Given the description of an element on the screen output the (x, y) to click on. 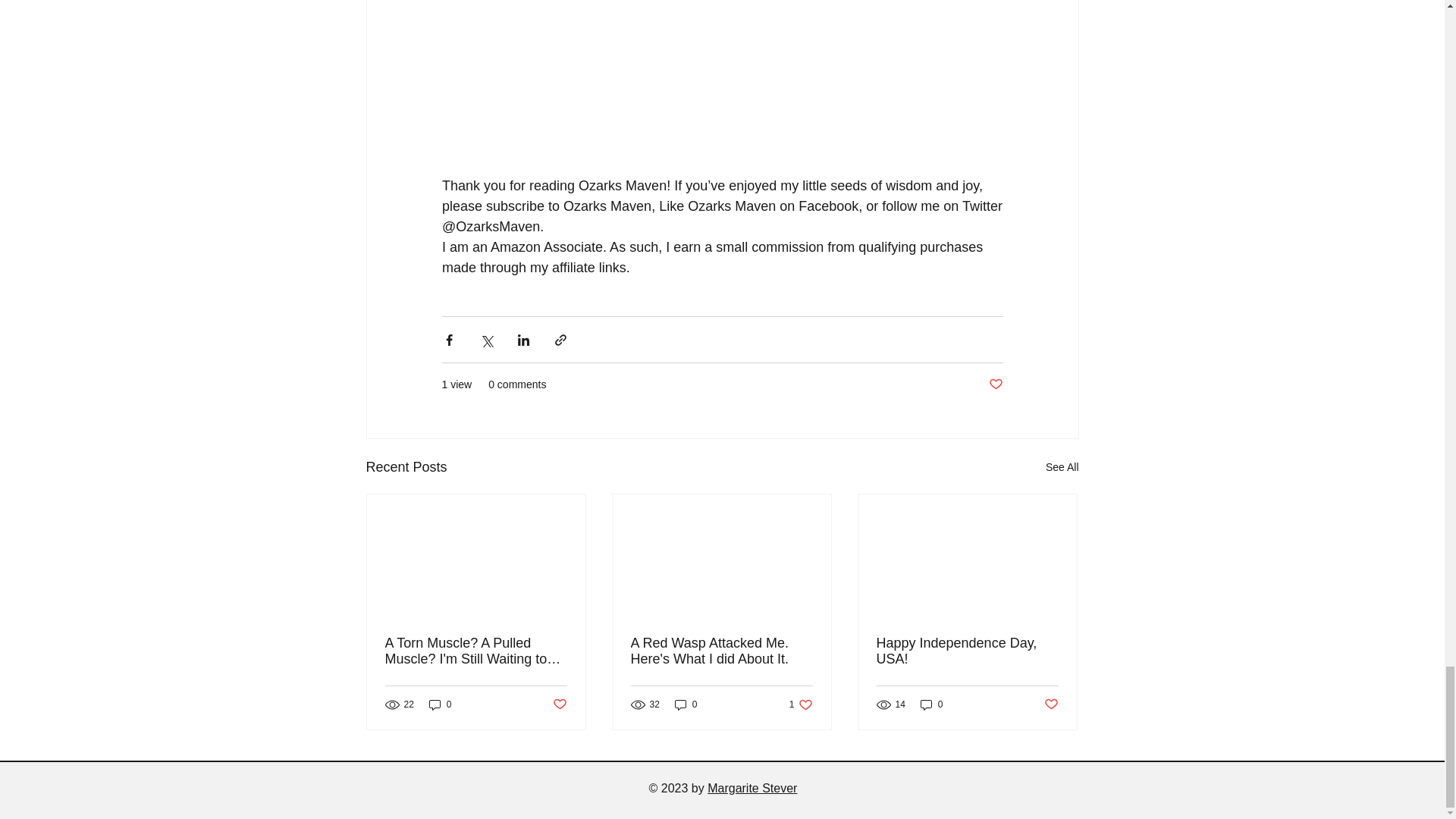
0 (440, 704)
0 (931, 704)
Post not marked as liked (558, 703)
Post not marked as liked (1050, 703)
0 (685, 704)
A Red Wasp Attacked Me. Here's What I did About It. (721, 651)
See All (1061, 467)
Happy Independence Day, USA! (800, 704)
Post not marked as liked (967, 651)
